Given the description of an element on the screen output the (x, y) to click on. 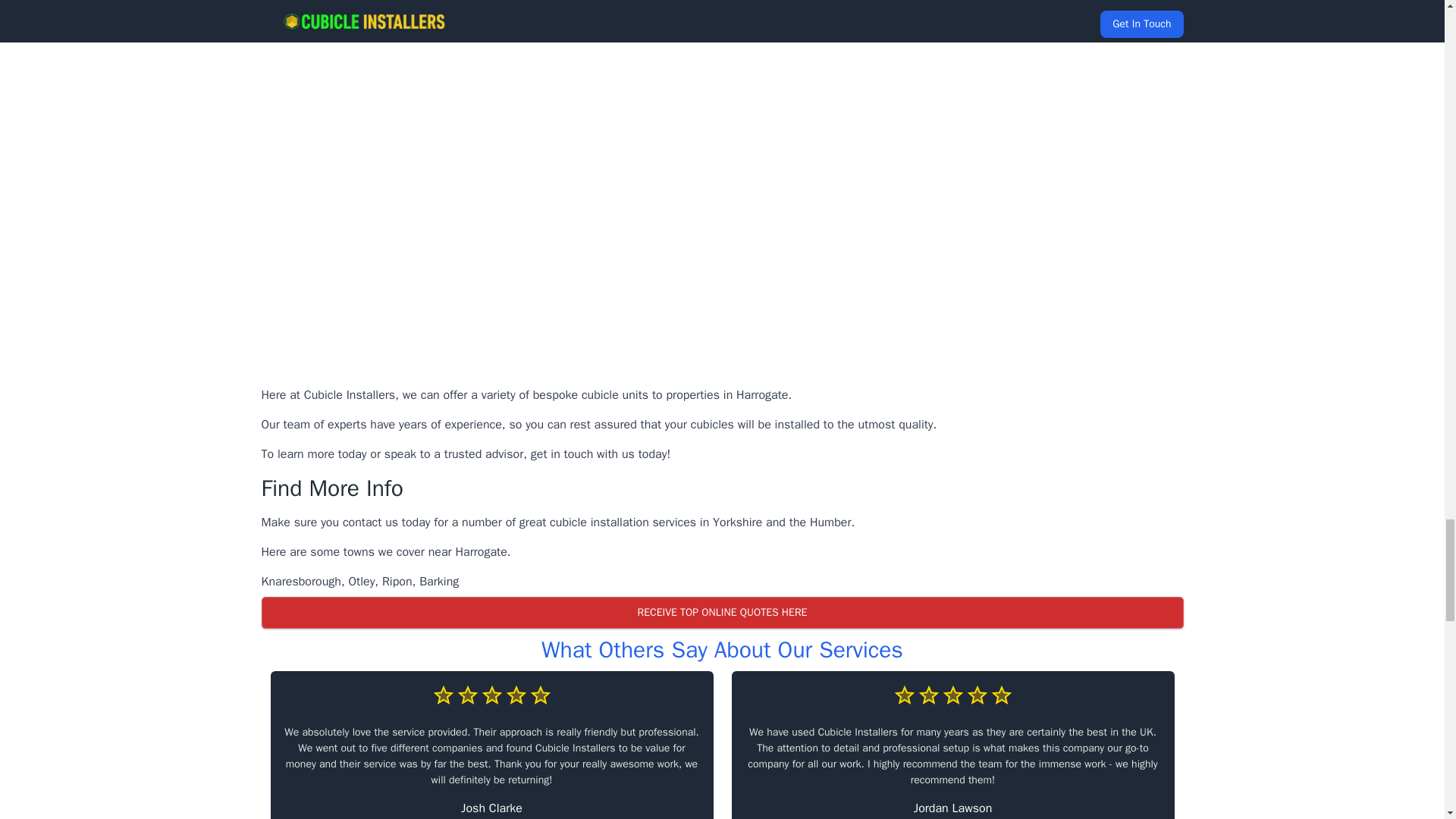
Barking (438, 580)
Otley (362, 580)
Knaresborough (300, 580)
Ripon (396, 580)
RECEIVE TOP ONLINE QUOTES HERE (721, 612)
